Given the description of an element on the screen output the (x, y) to click on. 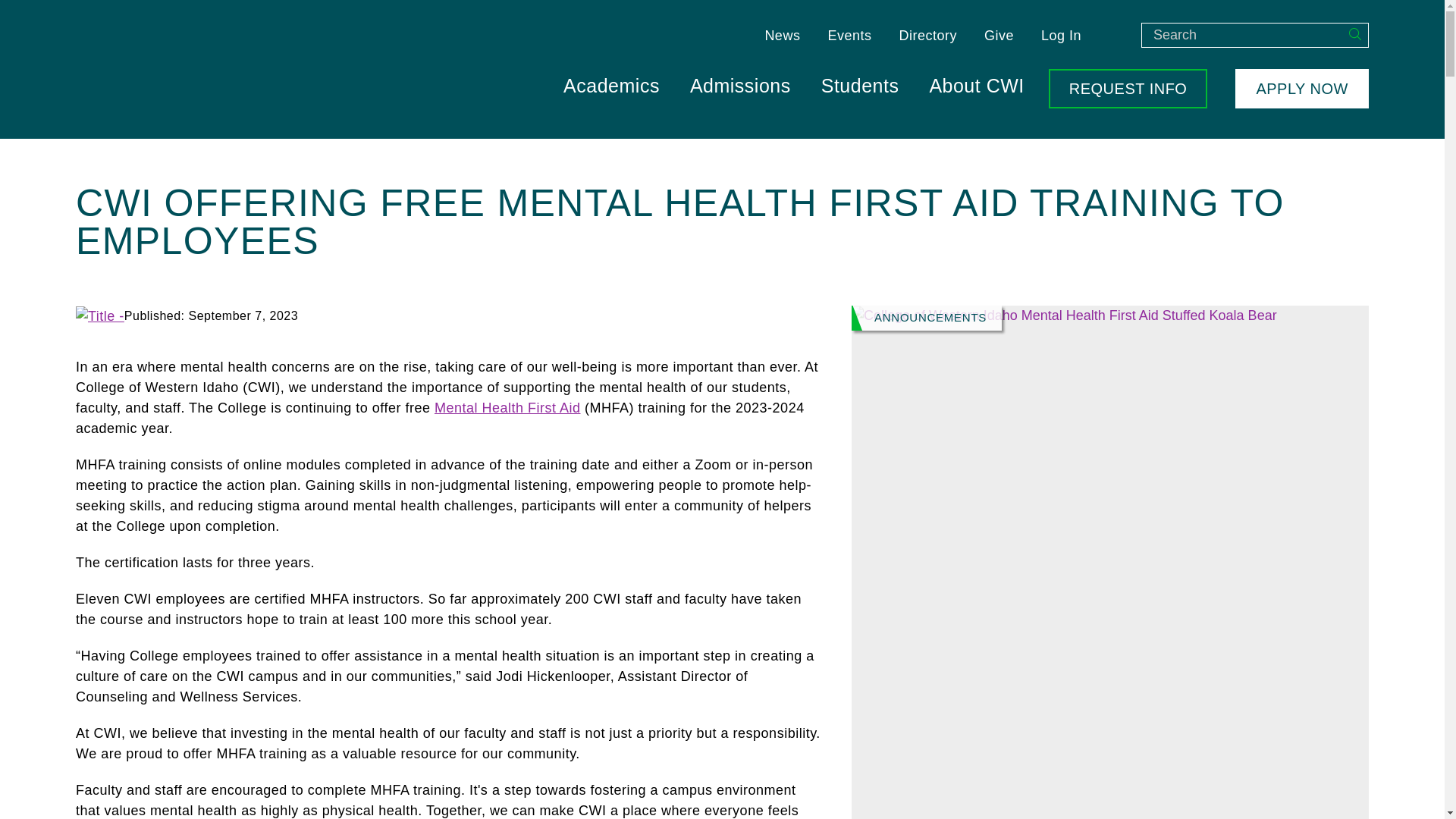
Give (999, 35)
Events (849, 35)
Academics (611, 84)
About CWI (976, 84)
News (782, 35)
College of Western Idaho Home (219, 68)
APPLY NOW (1301, 88)
Admissions (740, 84)
Display a printer-friendly version of this page. (99, 315)
College of Western Idaho Home (219, 68)
Directory (928, 35)
Students (860, 84)
REQUEST INFO (1128, 88)
Announcements (926, 317)
